Given the description of an element on the screen output the (x, y) to click on. 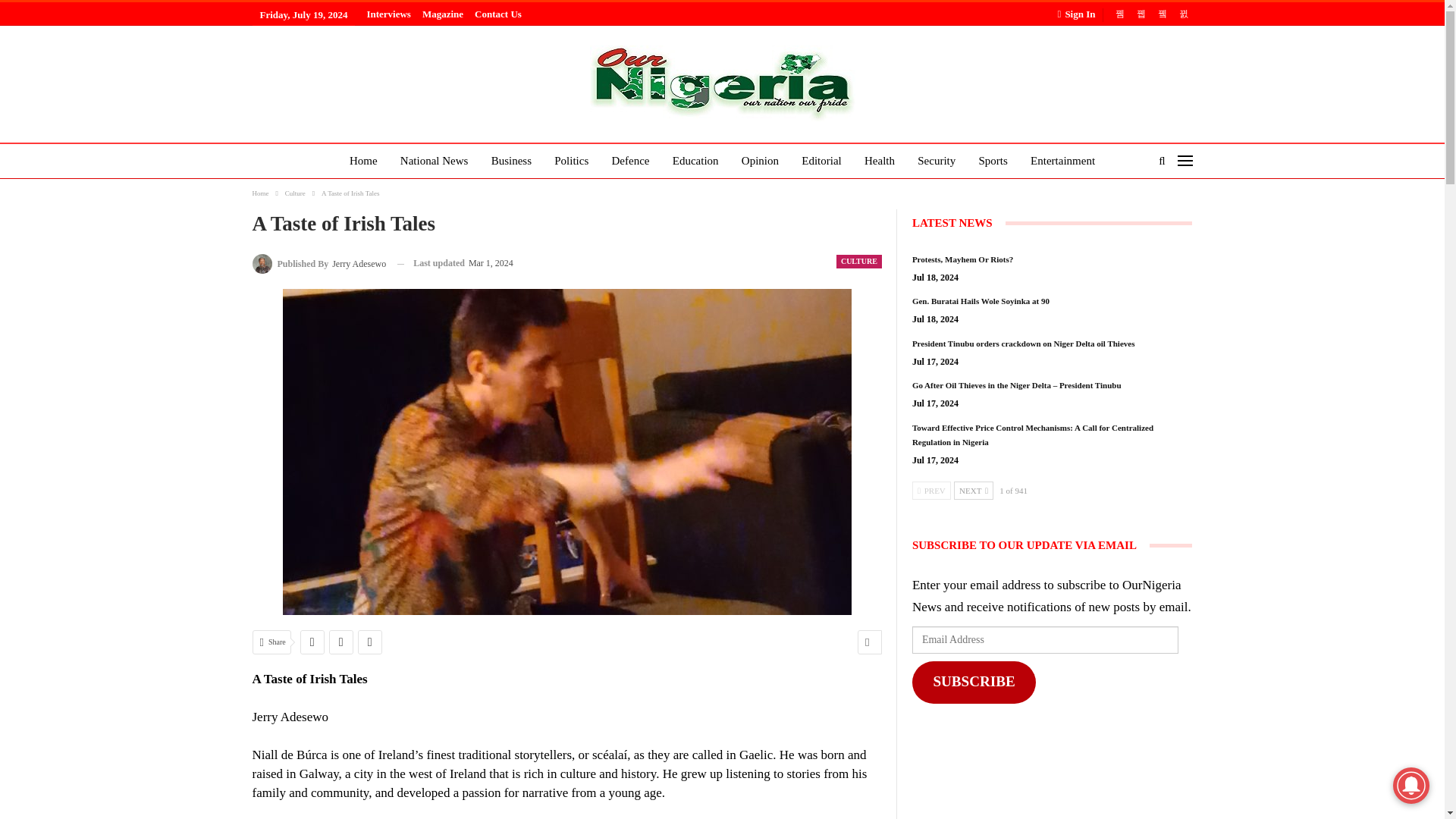
Defence (630, 161)
Home (363, 161)
Browse Author Articles (318, 263)
Contact Us (497, 13)
Education (695, 161)
Politics (570, 161)
Magazine (442, 13)
Security (935, 161)
Interviews (388, 13)
Business (510, 161)
National News (434, 161)
Sign In (1078, 13)
Editorial (821, 161)
Health (880, 161)
Opinion (759, 161)
